Given the description of an element on the screen output the (x, y) to click on. 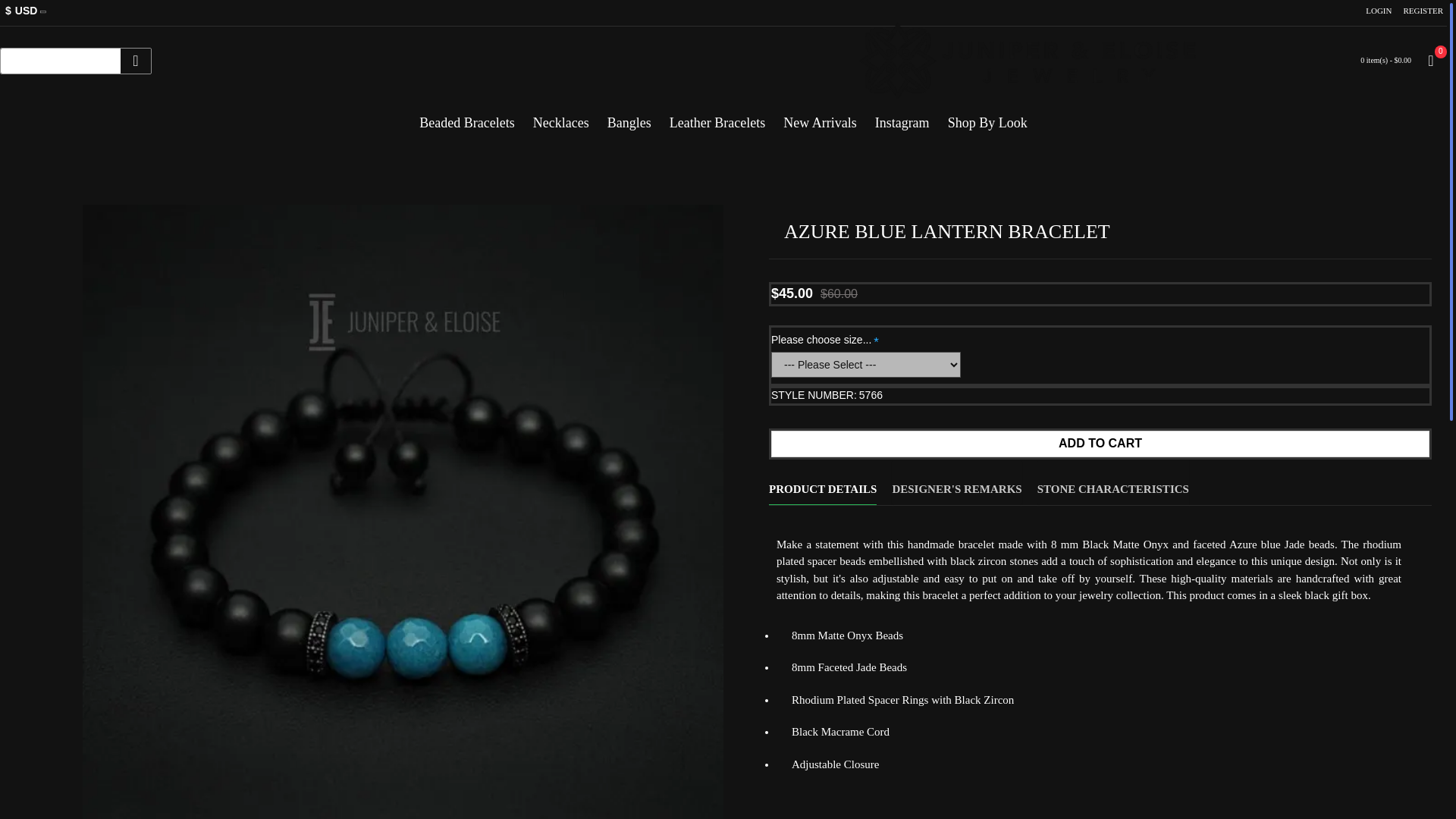
New Arrivals (819, 117)
STONE CHARACTERISTICS (1112, 481)
Leather Bracelets (717, 117)
REGISTER (1423, 11)
Instagram (902, 117)
PRODUCT DETAILS (822, 481)
ADD TO CART (1100, 443)
Bangles (629, 117)
Necklaces (561, 117)
LOGIN (1377, 11)
Beaded Bracelets (466, 117)
DESIGNER'S REMARKS (956, 481)
Shop By Look (987, 117)
